Given the description of an element on the screen output the (x, y) to click on. 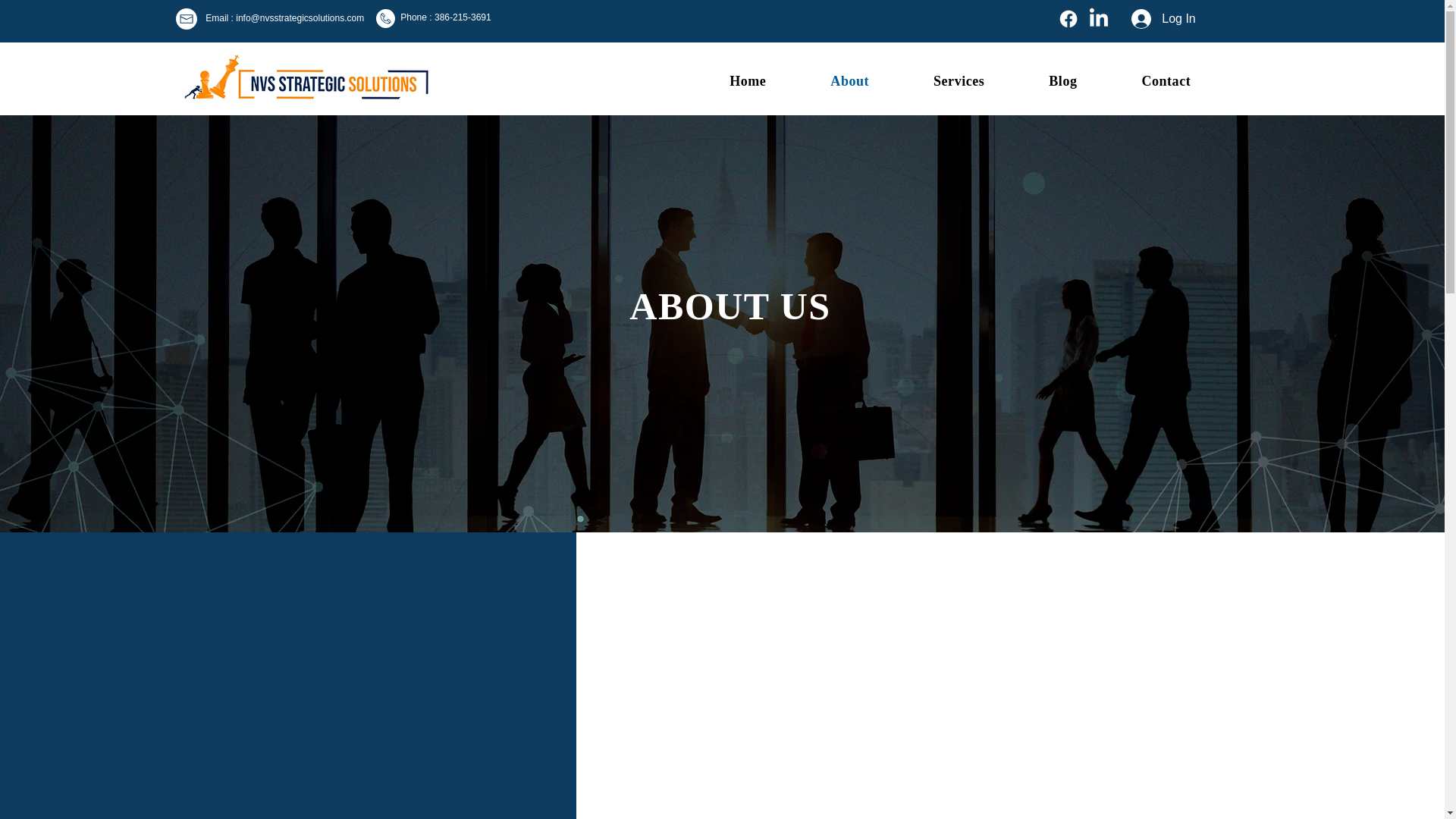
Home (725, 81)
Phone : 386-215-3691 (445, 17)
Contact (1144, 81)
Blog (1040, 81)
Log In (1163, 18)
About (938, 81)
Services (827, 81)
